Given the description of an element on the screen output the (x, y) to click on. 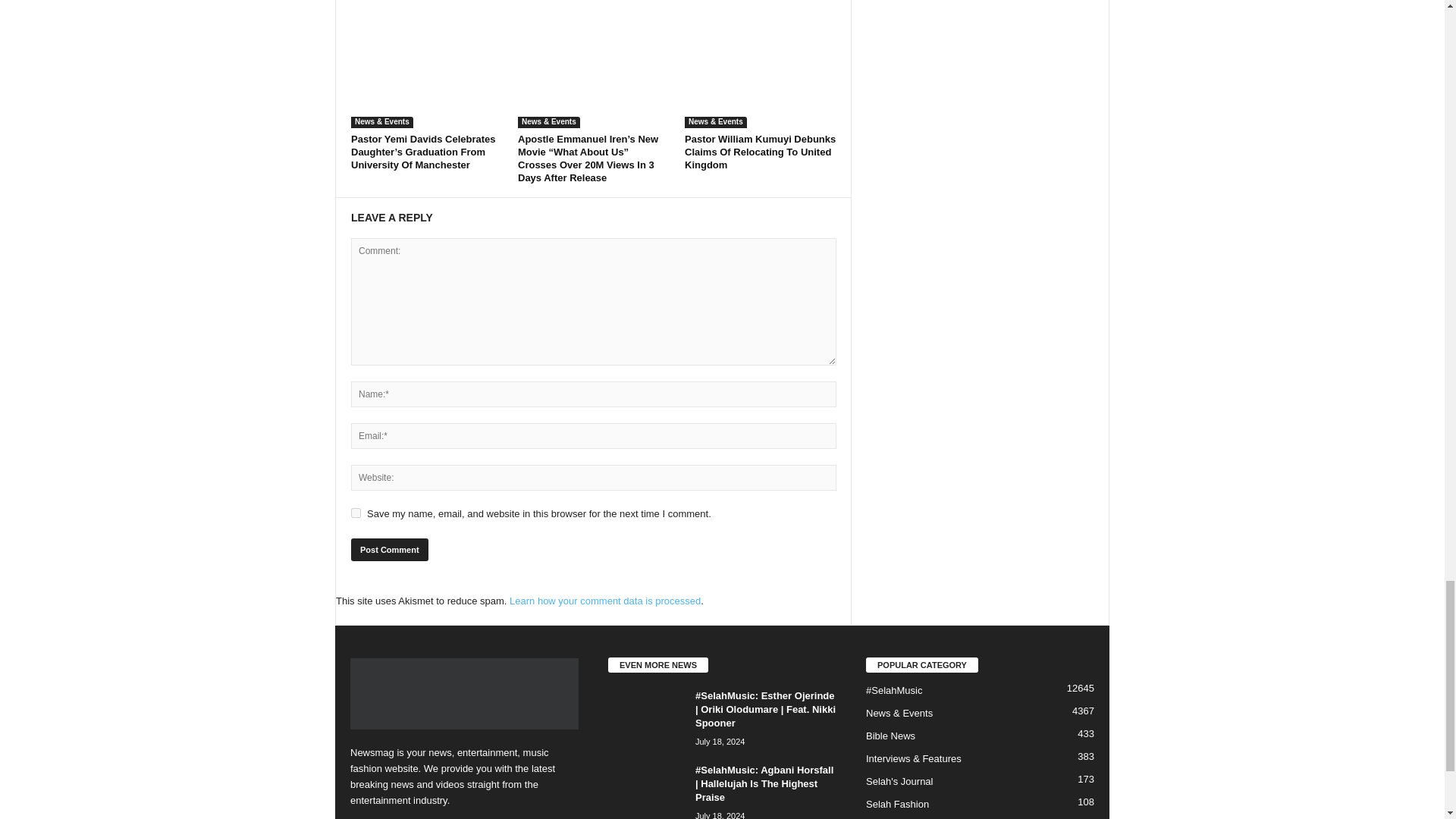
Post Comment (389, 549)
yes (355, 512)
